Given the description of an element on the screen output the (x, y) to click on. 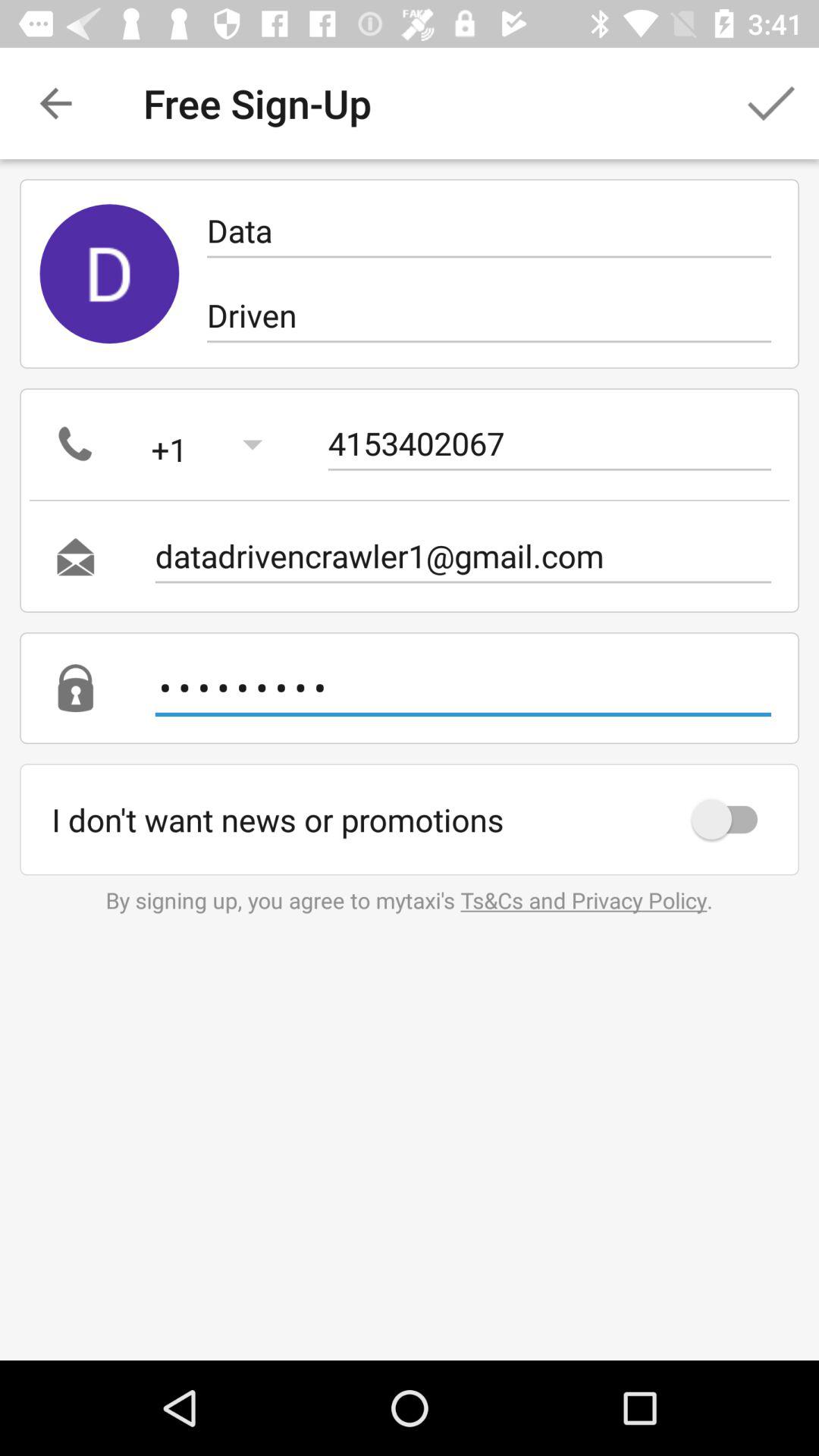
press the icon below 4153402067 item (463, 556)
